Given the description of an element on the screen output the (x, y) to click on. 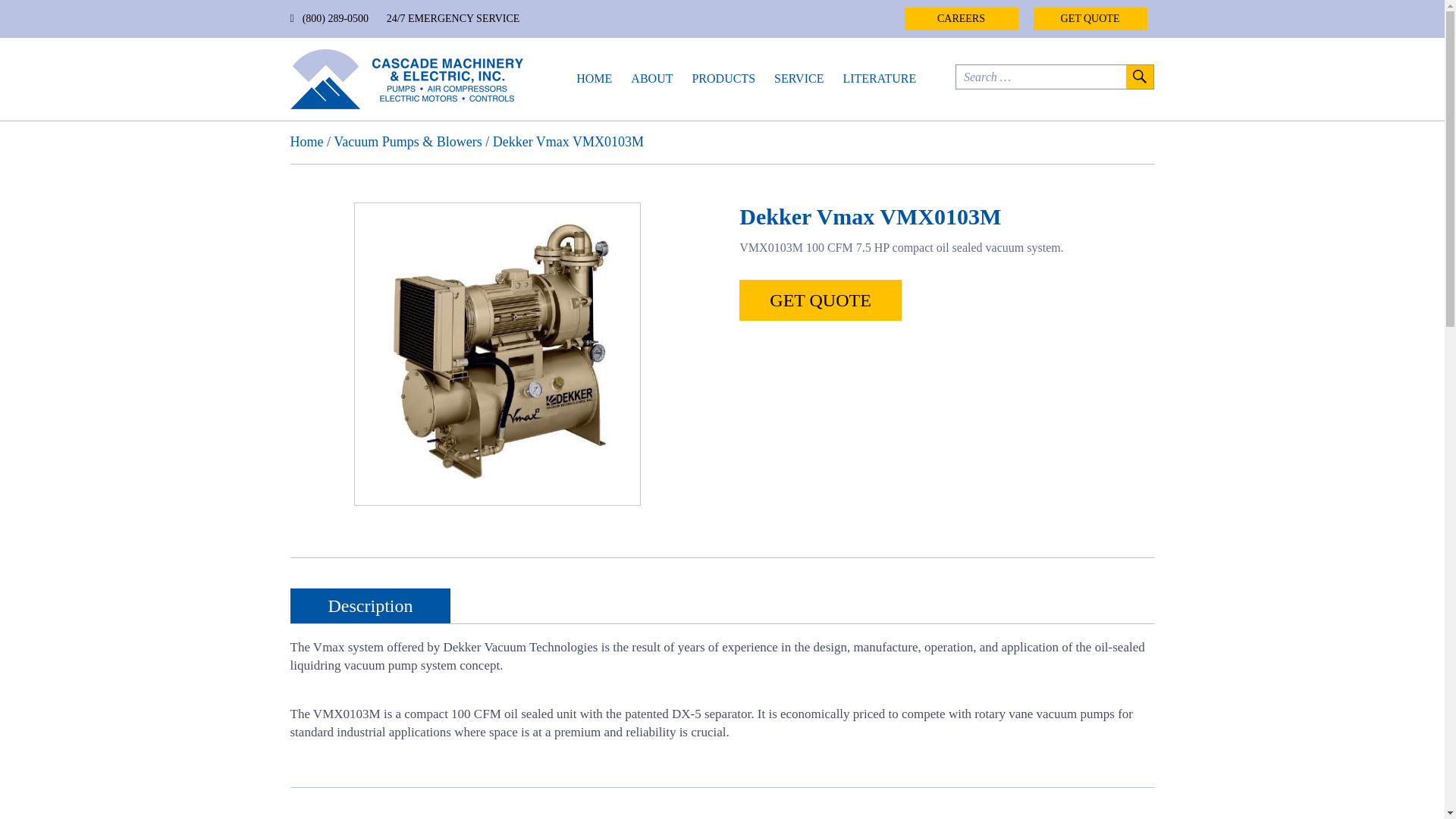
PRODUCTS (723, 78)
CAREERS (960, 18)
GET QUOTE (820, 300)
LITERATURE (879, 78)
GET QUOTE (1089, 18)
Search (1138, 76)
709529 (496, 354)
